Given the description of an element on the screen output the (x, y) to click on. 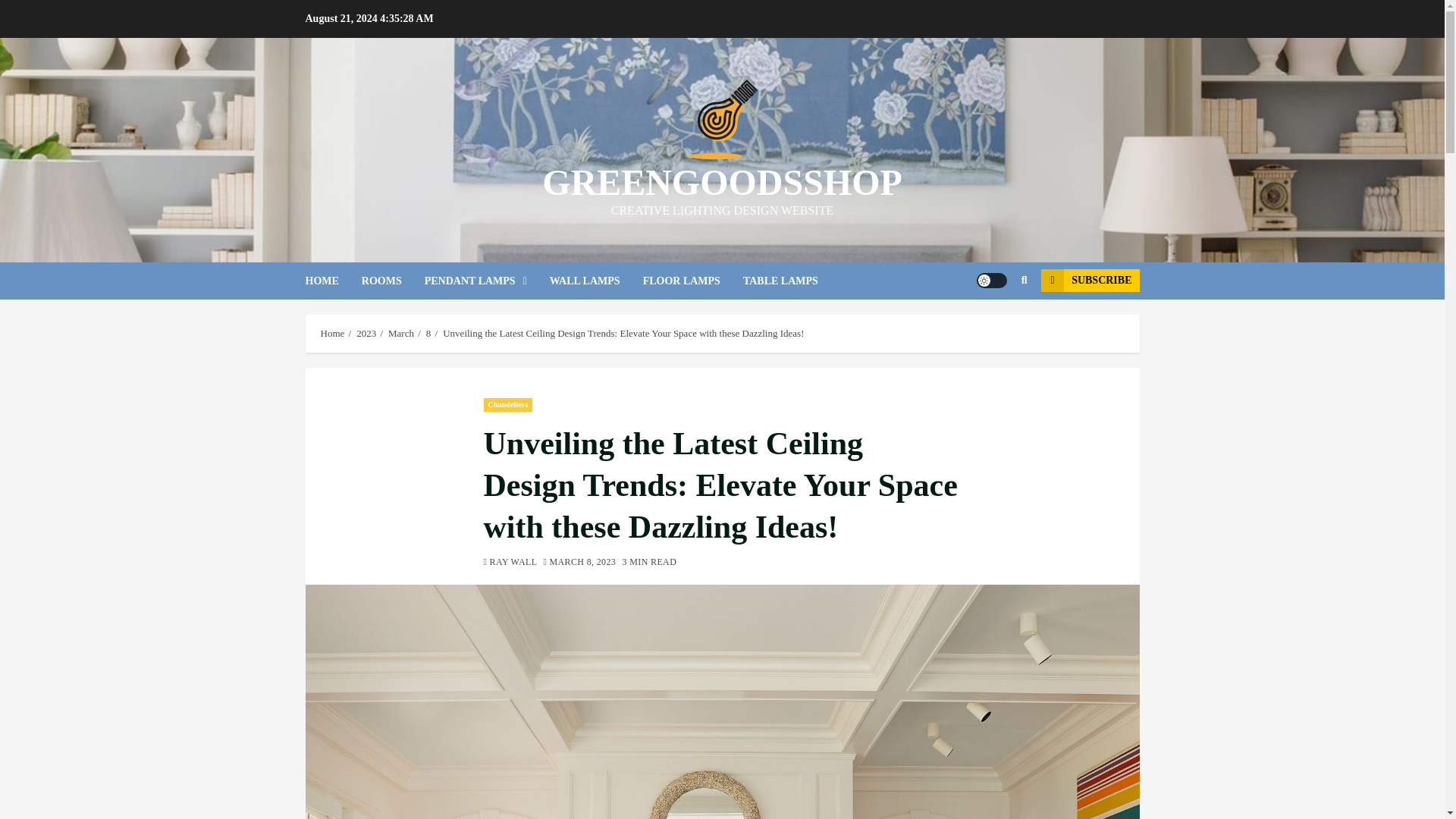
ROOMS (393, 280)
Search (994, 326)
SUBSCRIBE (1089, 280)
GREENGOODSSHOP (721, 182)
March (400, 333)
RAY WALL (510, 562)
HOME (332, 280)
TABLE LAMPS (791, 280)
Home (331, 333)
